Given the description of an element on the screen output the (x, y) to click on. 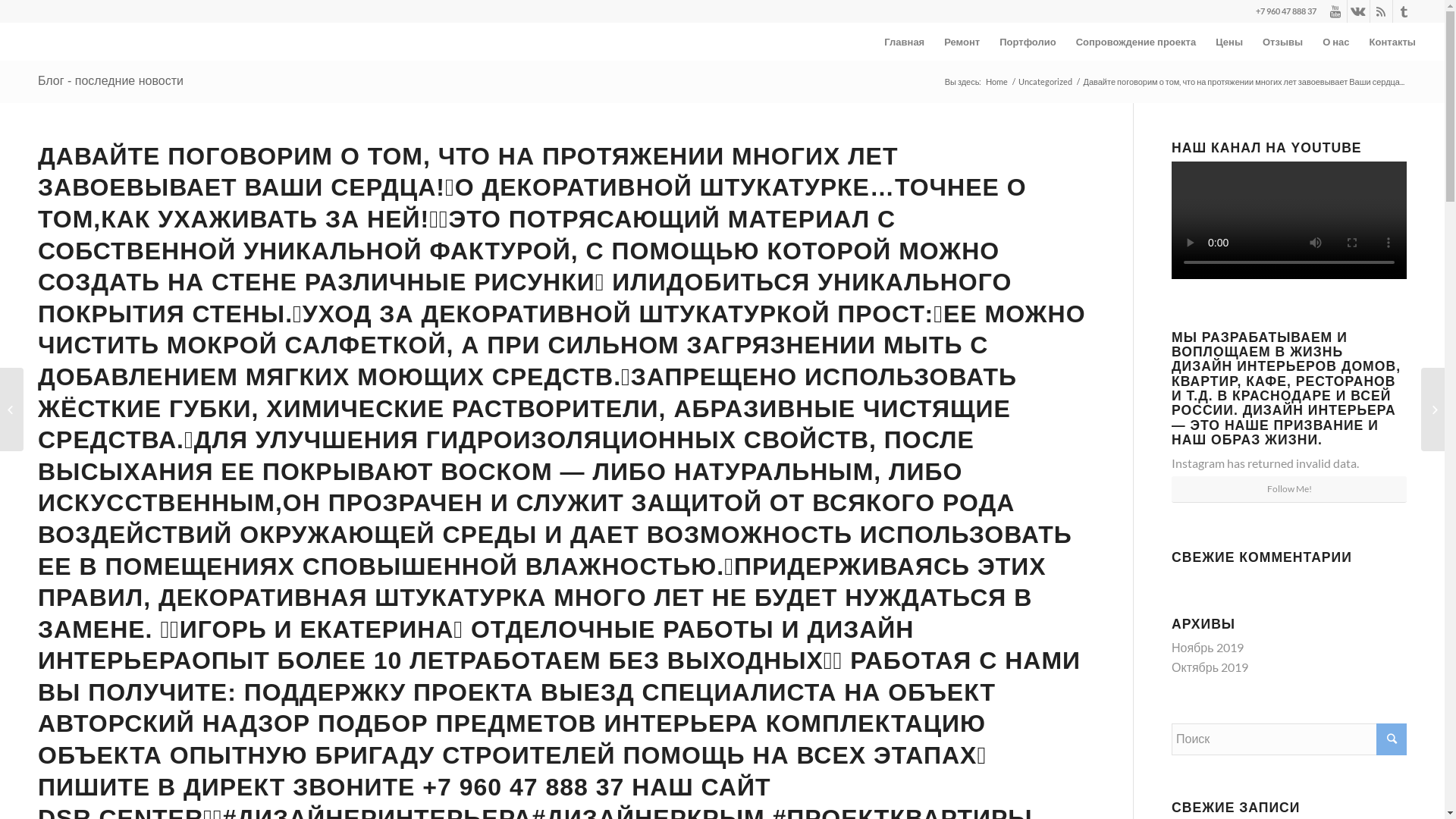
Tumblr Element type: hover (1404, 11)
Rss Element type: hover (1381, 11)
Follow Me! Element type: text (1288, 489)
Youtube Element type: hover (1335, 11)
Uncategorized Element type: text (1045, 81)
Vk Element type: hover (1358, 11)
Home Element type: text (996, 81)
